Given the description of an element on the screen output the (x, y) to click on. 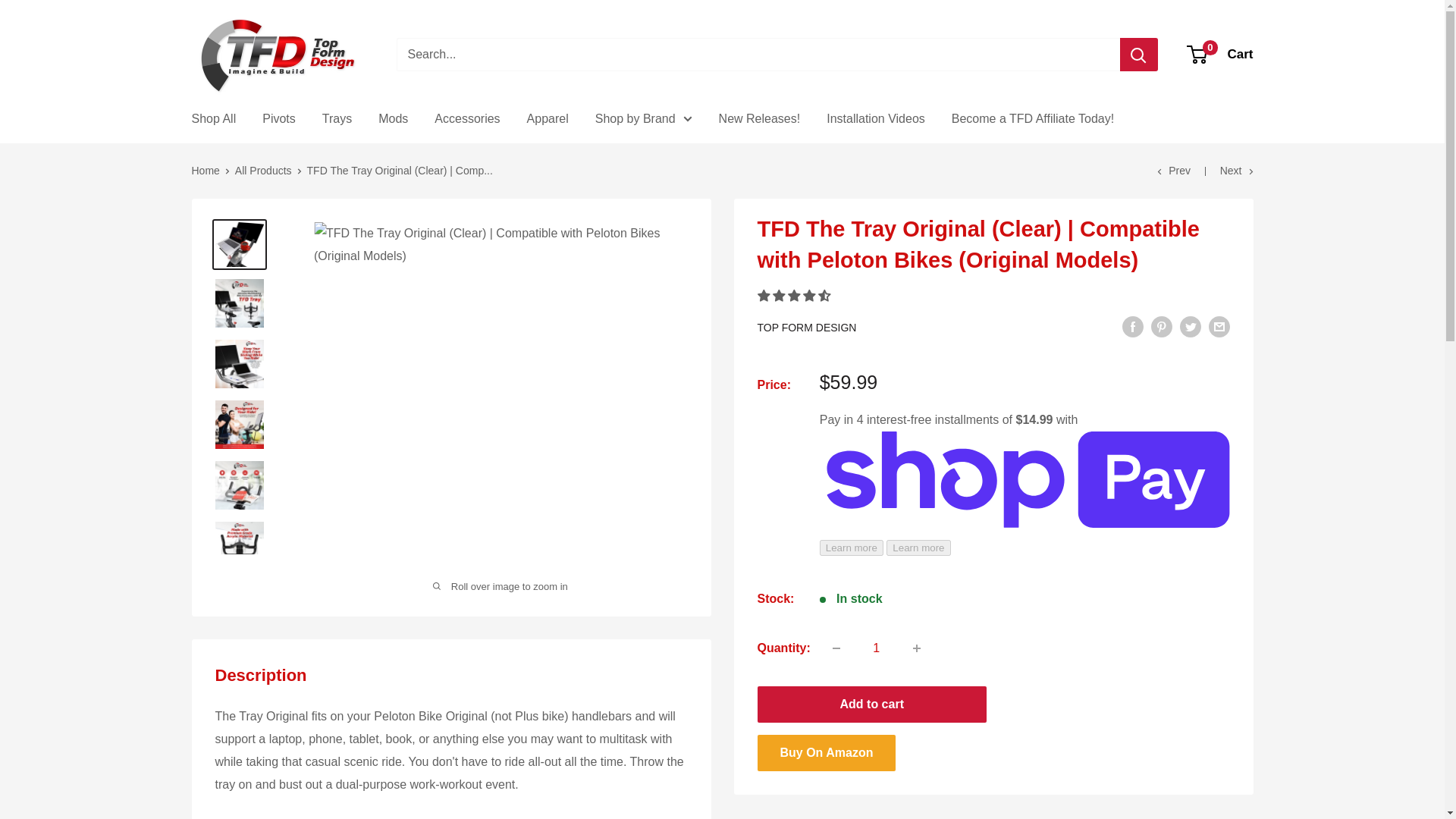
Trays (336, 118)
Top Form Design (277, 55)
1 (876, 648)
Shop All (212, 118)
Accessories (466, 118)
Mods (392, 118)
Increase quantity by 1 (917, 648)
Decrease quantity by 1 (1220, 54)
Pivots (836, 648)
